Given the description of an element on the screen output the (x, y) to click on. 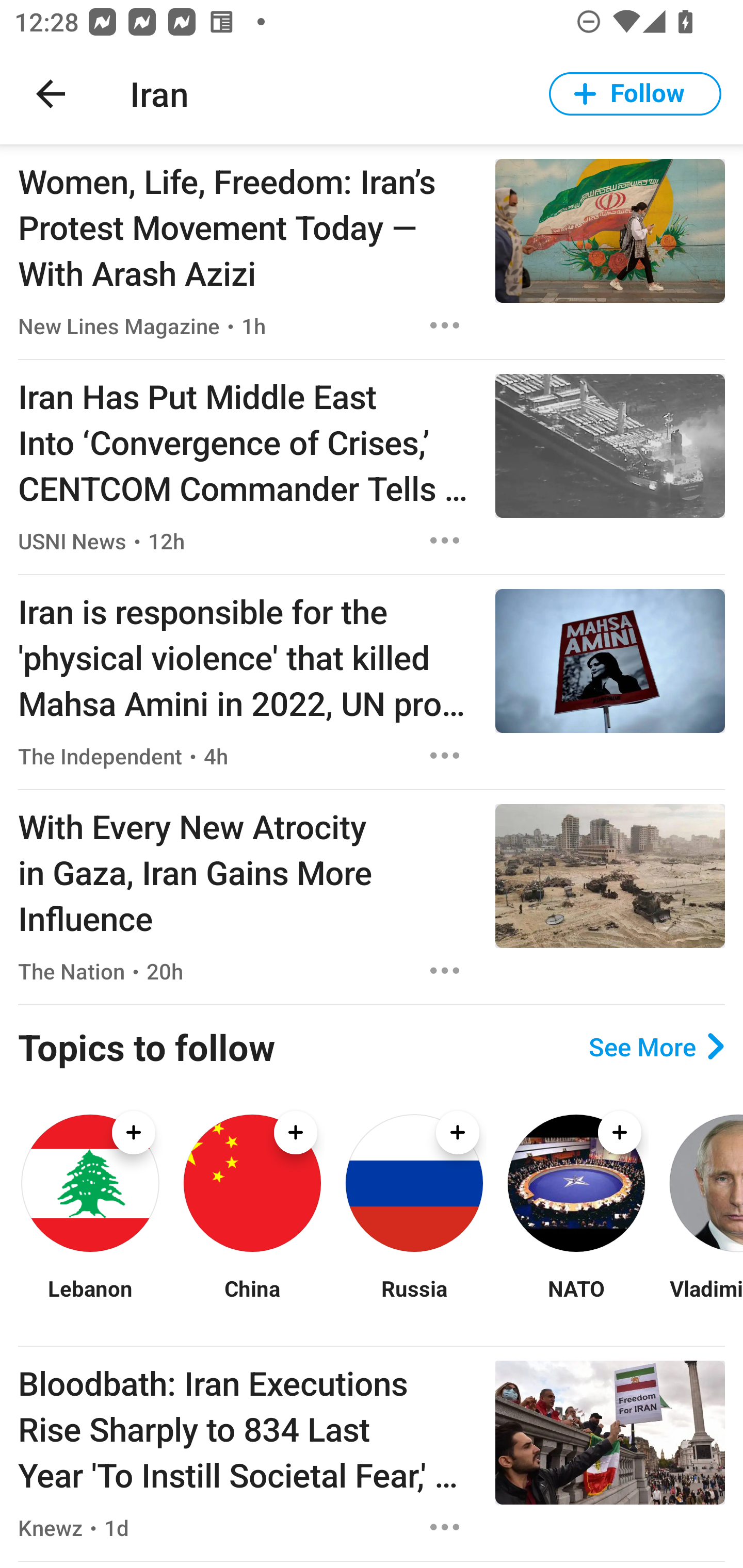
Navigate up (50, 93)
Follow (635, 94)
Options (444, 325)
Options (444, 540)
Options (444, 755)
Options (444, 970)
See More (656, 1046)
Lebanon (89, 1300)
China (251, 1300)
Russia (413, 1300)
NATO (575, 1300)
Options (444, 1527)
